Given the description of an element on the screen output the (x, y) to click on. 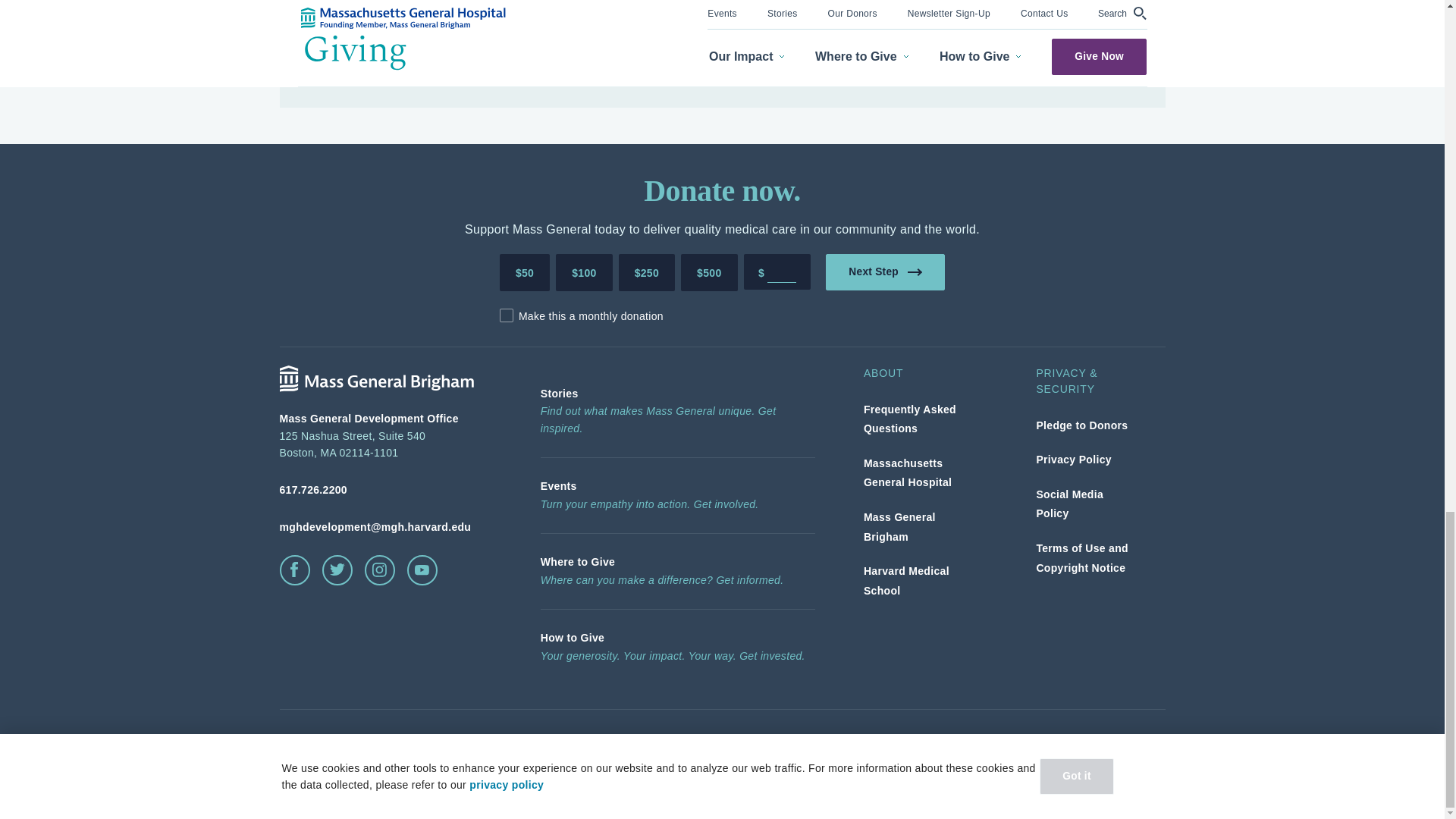
Subscribe (1079, 54)
